Given the description of an element on the screen output the (x, y) to click on. 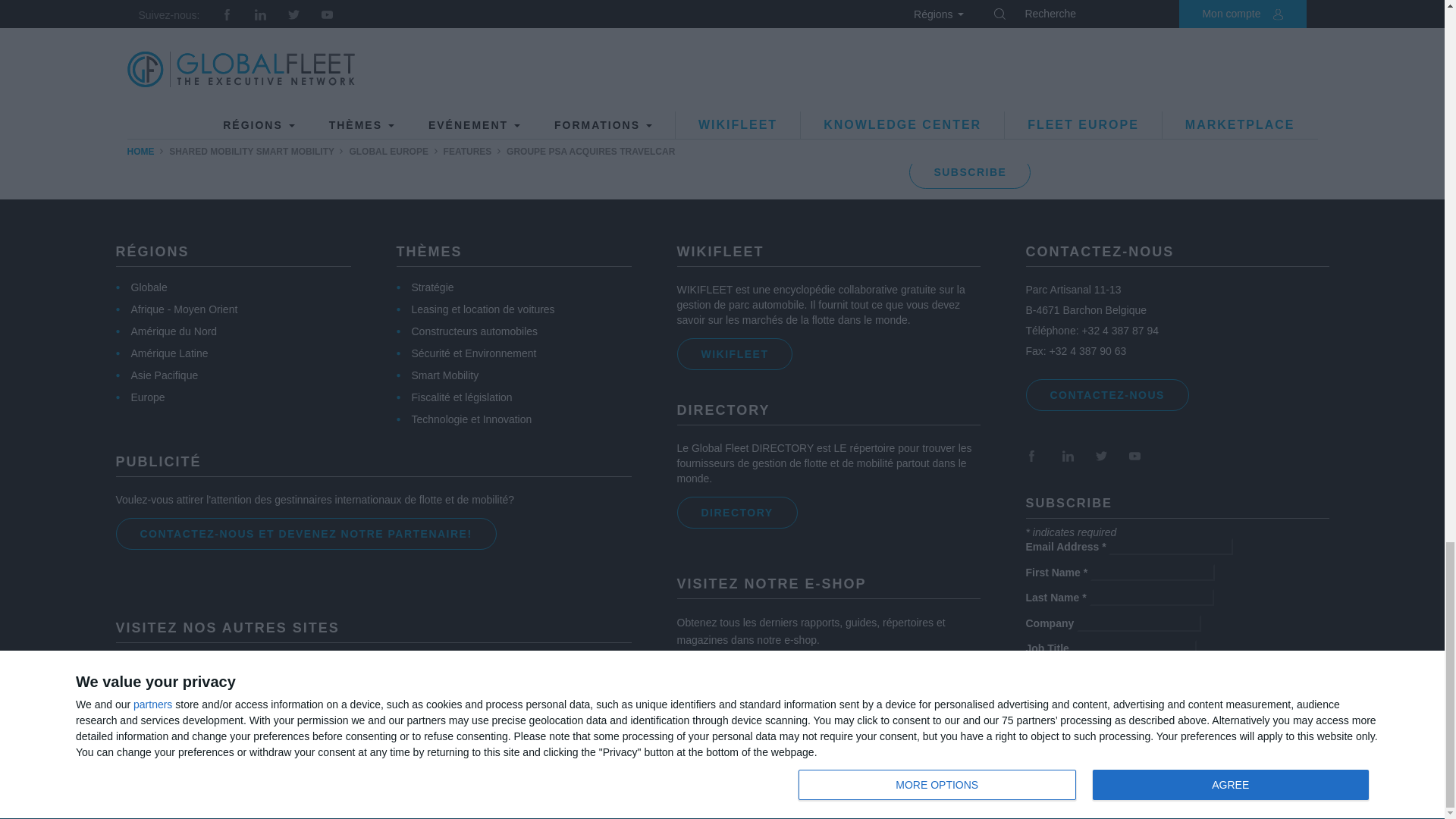
Smartmobility logo (427, 674)
Subscribe (1086, 717)
Nexus logo (233, 732)
Fleeteurope logo (206, 686)
Nexus logo (233, 732)
Contact globalfleet (1106, 395)
Fleeteurope logo (206, 675)
Subscribe (969, 172)
